Given the description of an element on the screen output the (x, y) to click on. 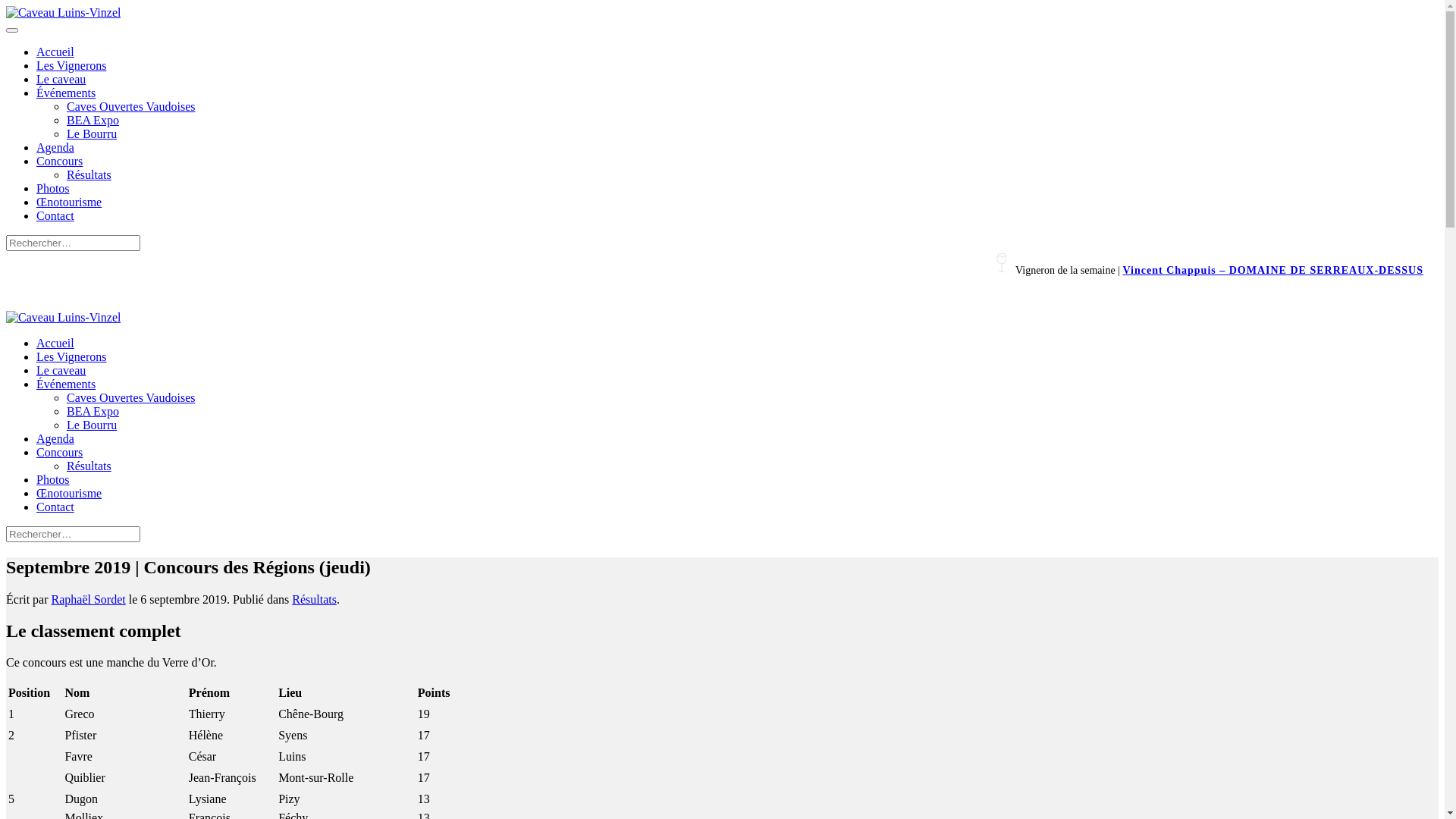
Le Bourru Element type: text (91, 424)
Photos Element type: text (52, 479)
BEA Expo Element type: text (92, 410)
Caves Ouvertes Vaudoises Element type: text (130, 106)
Les Vignerons Element type: text (71, 356)
Le Bourru Element type: text (91, 133)
Concours Element type: text (59, 160)
Caves Ouvertes Vaudoises Element type: text (130, 397)
Le caveau Element type: text (60, 78)
Contact Element type: text (55, 506)
Photos Element type: text (52, 188)
BEA Expo Element type: text (92, 119)
Les Vignerons Element type: text (71, 65)
Agenda Element type: text (55, 438)
Accueil Element type: text (55, 51)
Contact Element type: text (55, 215)
Le caveau Element type: text (60, 370)
Concours Element type: text (59, 451)
Accueil Element type: text (55, 342)
Agenda Element type: text (55, 147)
